Given the description of an element on the screen output the (x, y) to click on. 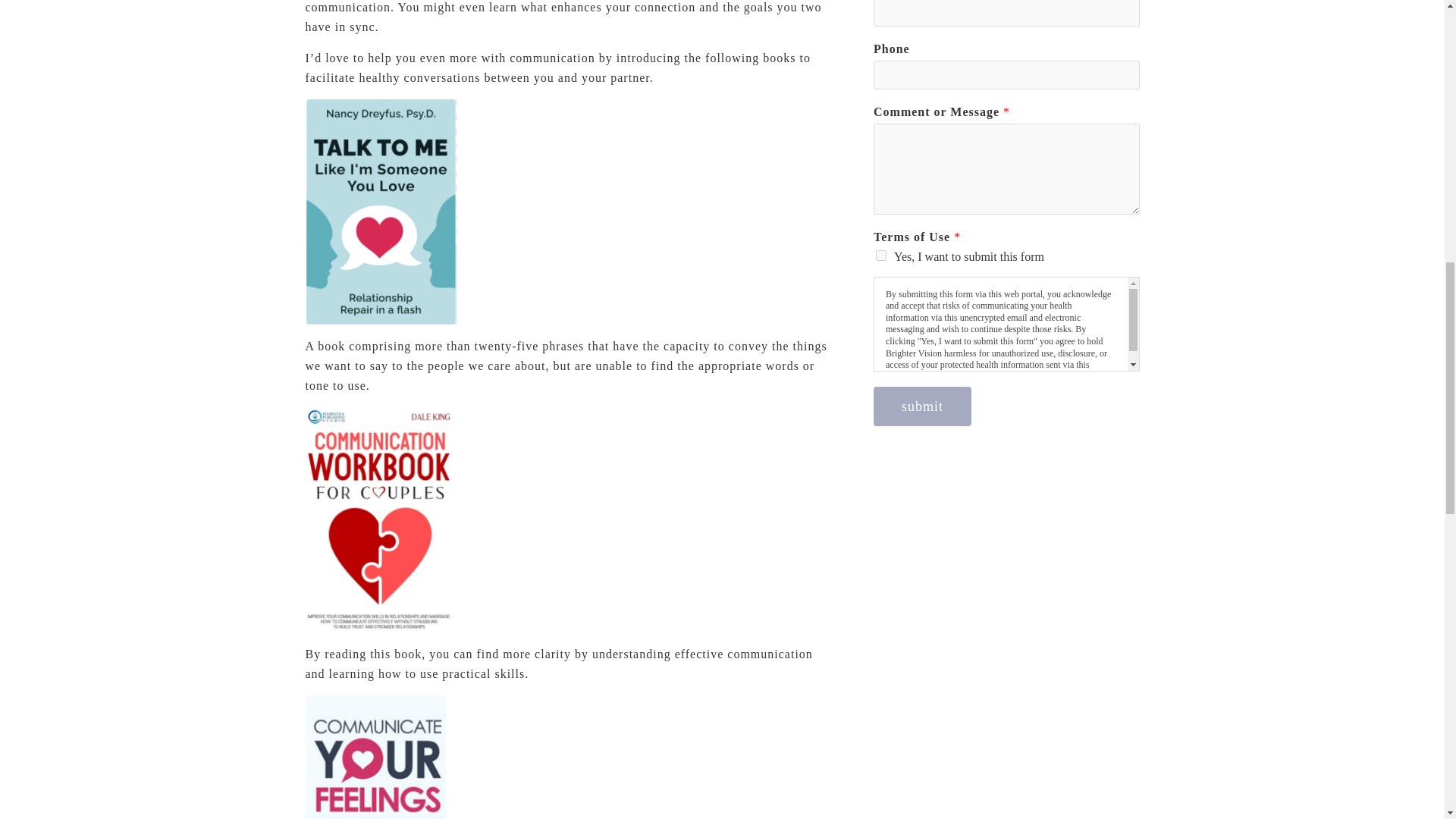
Yes, I want to submit this form (881, 255)
